Given the description of an element on the screen output the (x, y) to click on. 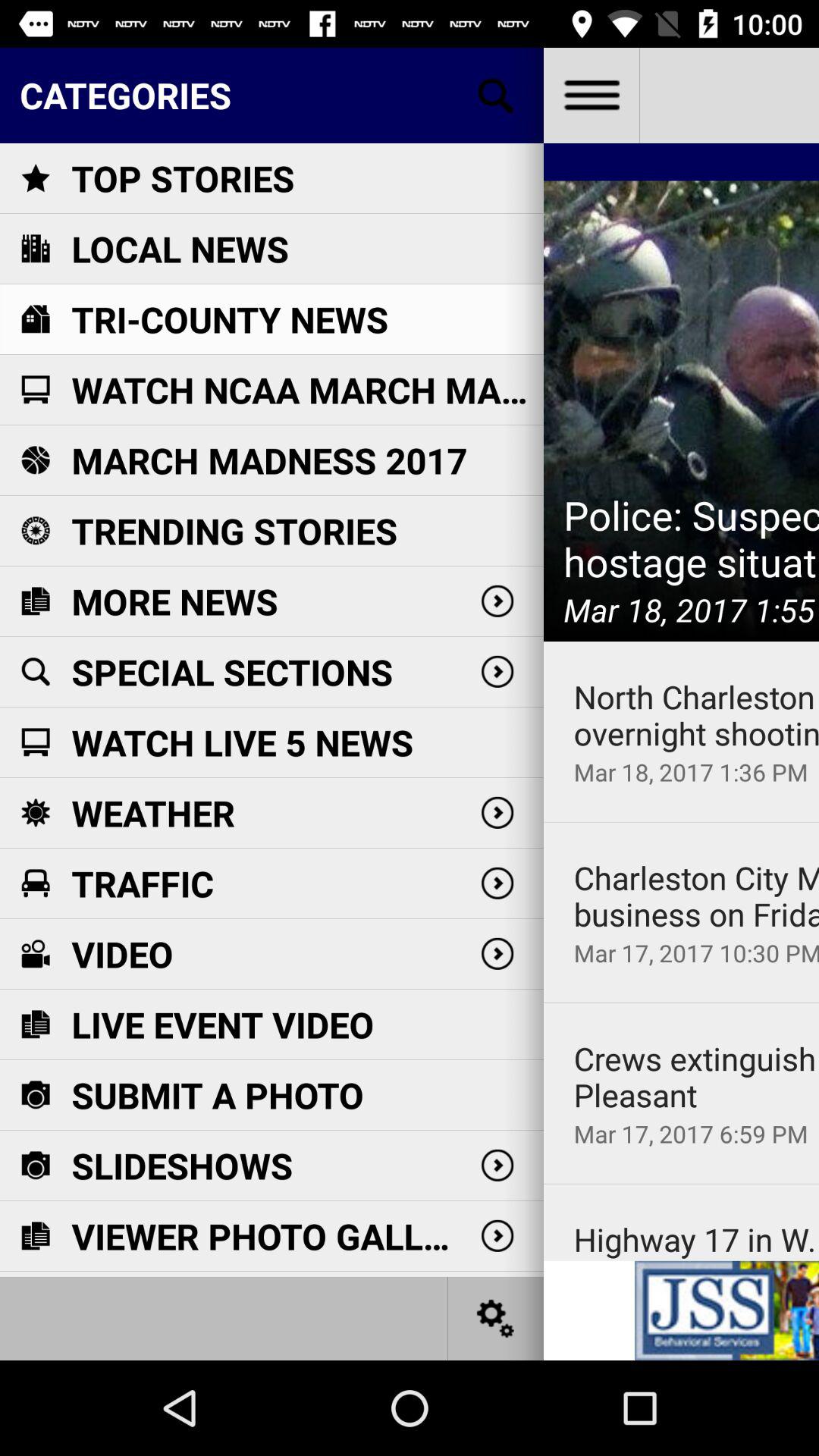
settings option (495, 1318)
